Given the description of an element on the screen output the (x, y) to click on. 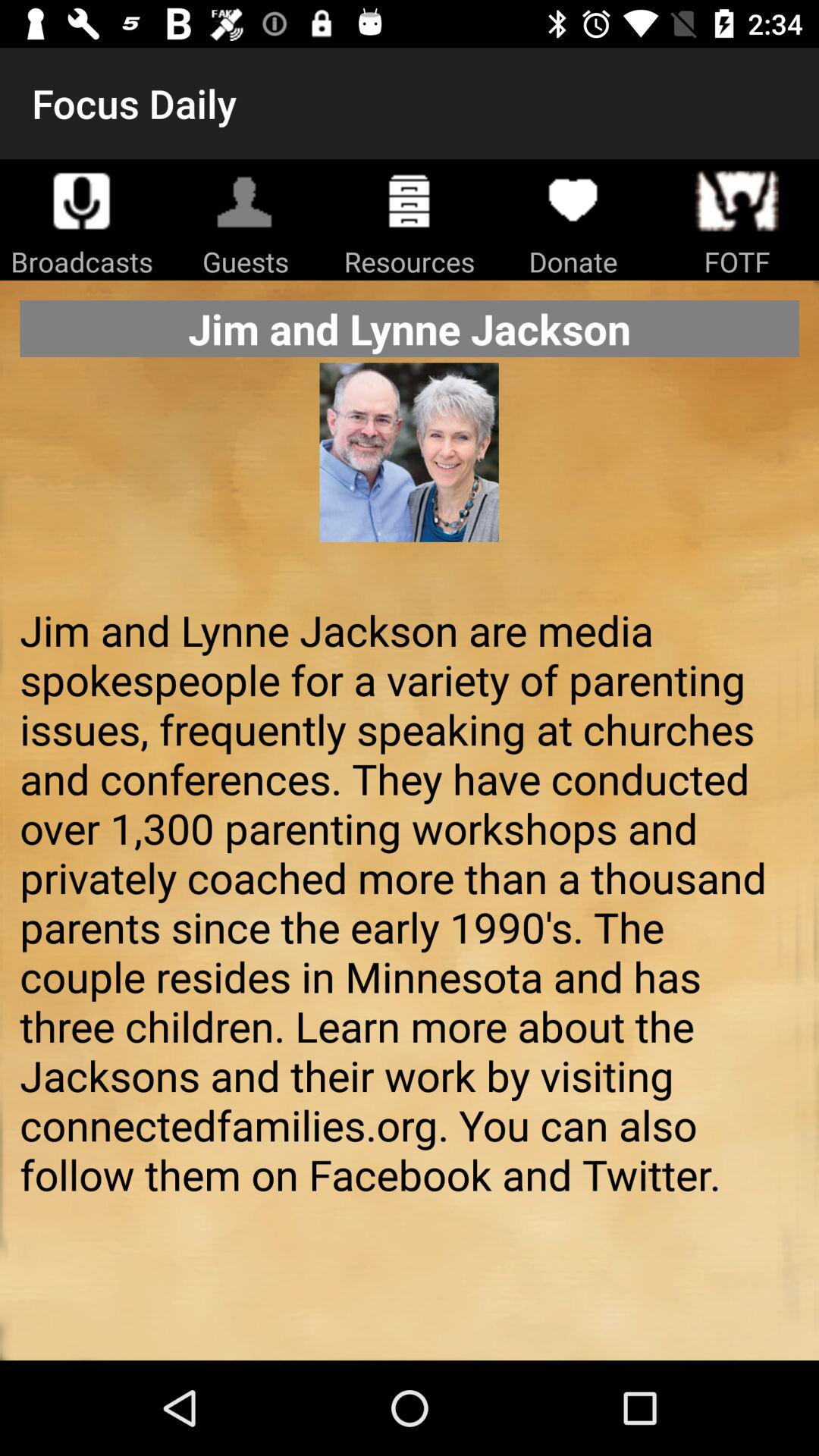
select the resoruces image option (409, 200)
click on the icon left to icon guests (81, 200)
select the image below the text jim and lynne jackson (409, 475)
